Given the description of an element on the screen output the (x, y) to click on. 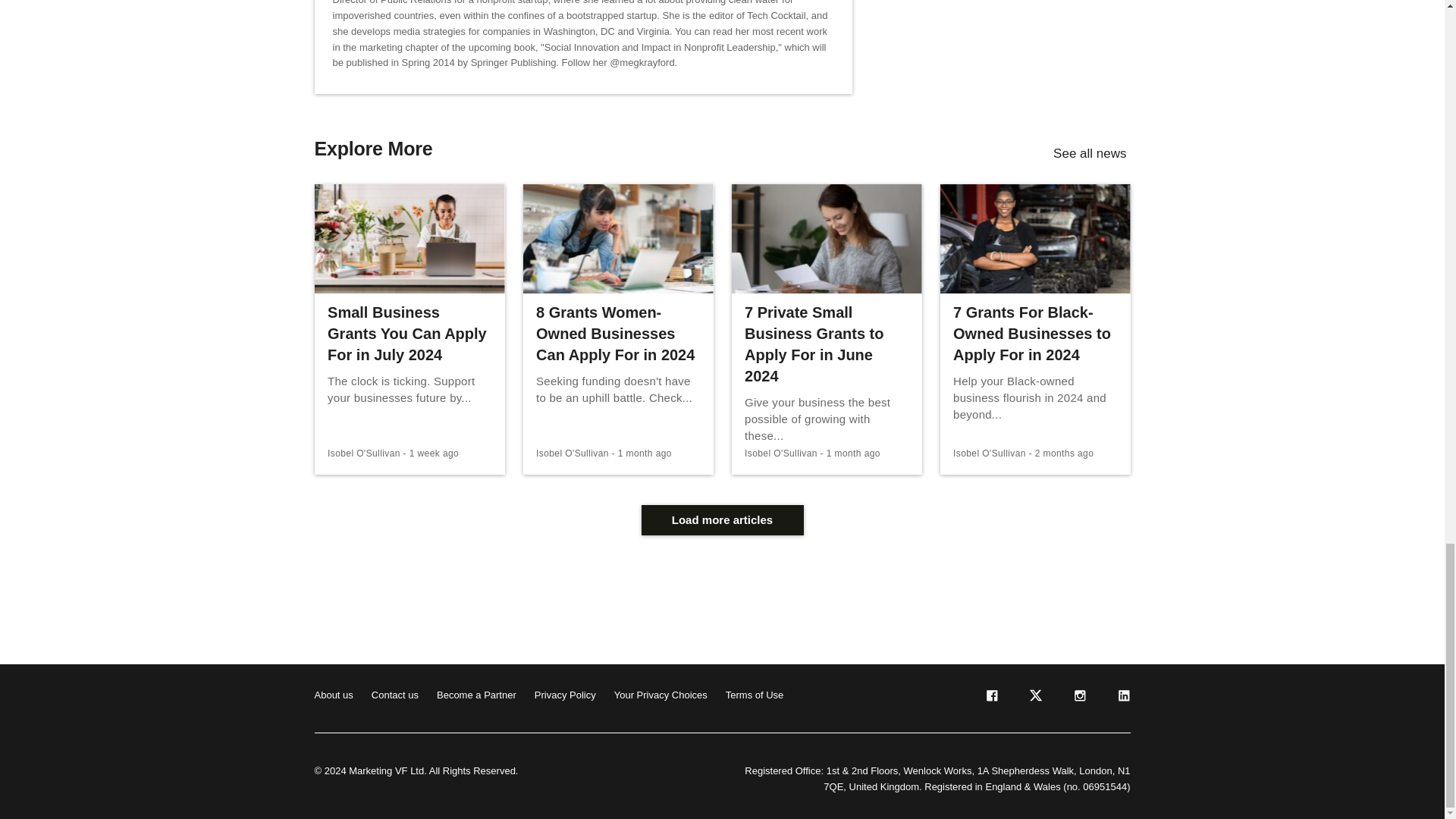
facebook (990, 698)
instagram (1078, 698)
twitter-x (1034, 698)
linkedin (1122, 698)
